Given the description of an element on the screen output the (x, y) to click on. 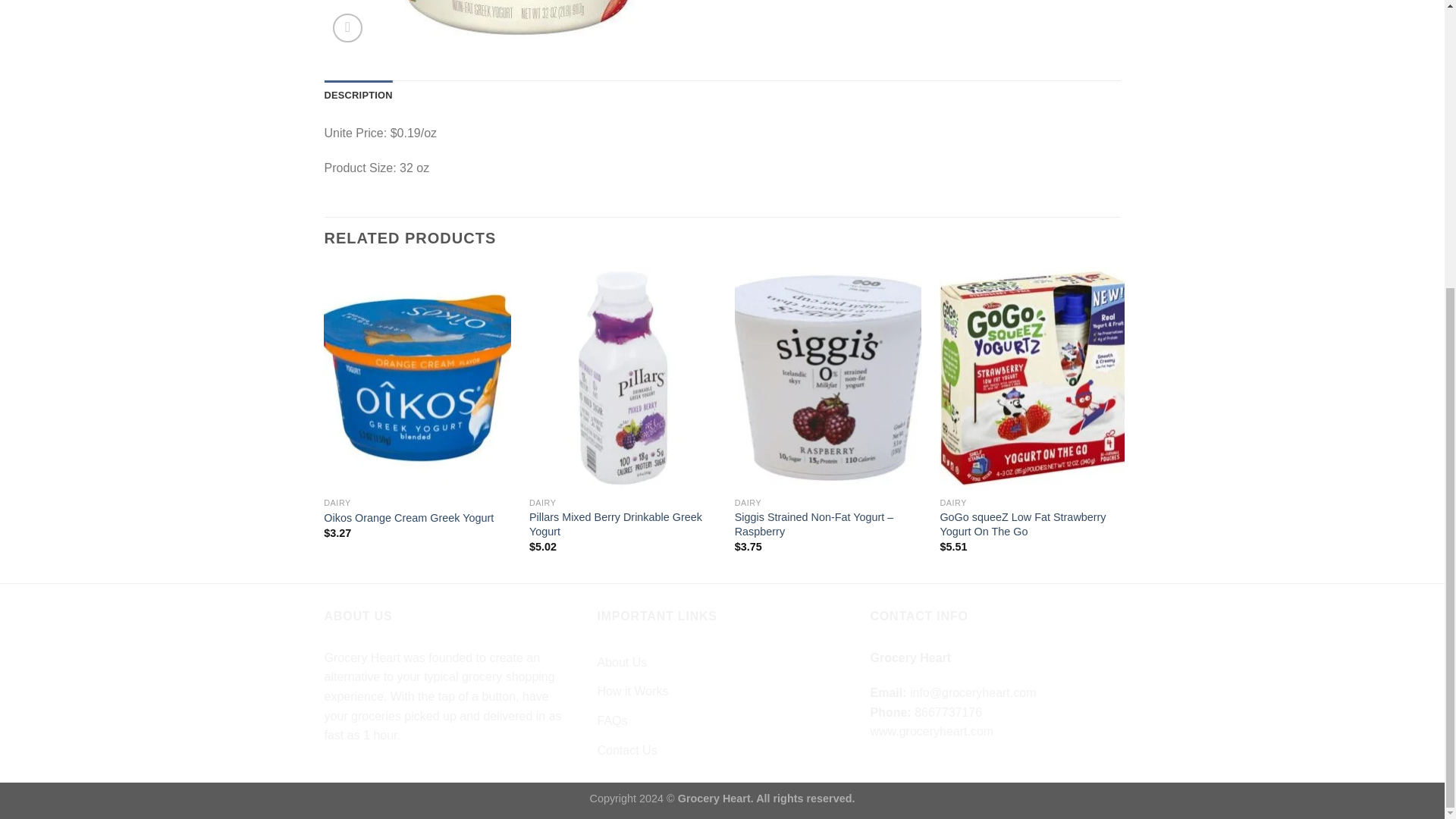
Oikos Orange Cream Greek Yogurt (408, 518)
DESCRIPTION (358, 95)
Zoom (347, 28)
jpg (517, 24)
